Given the description of an element on the screen output the (x, y) to click on. 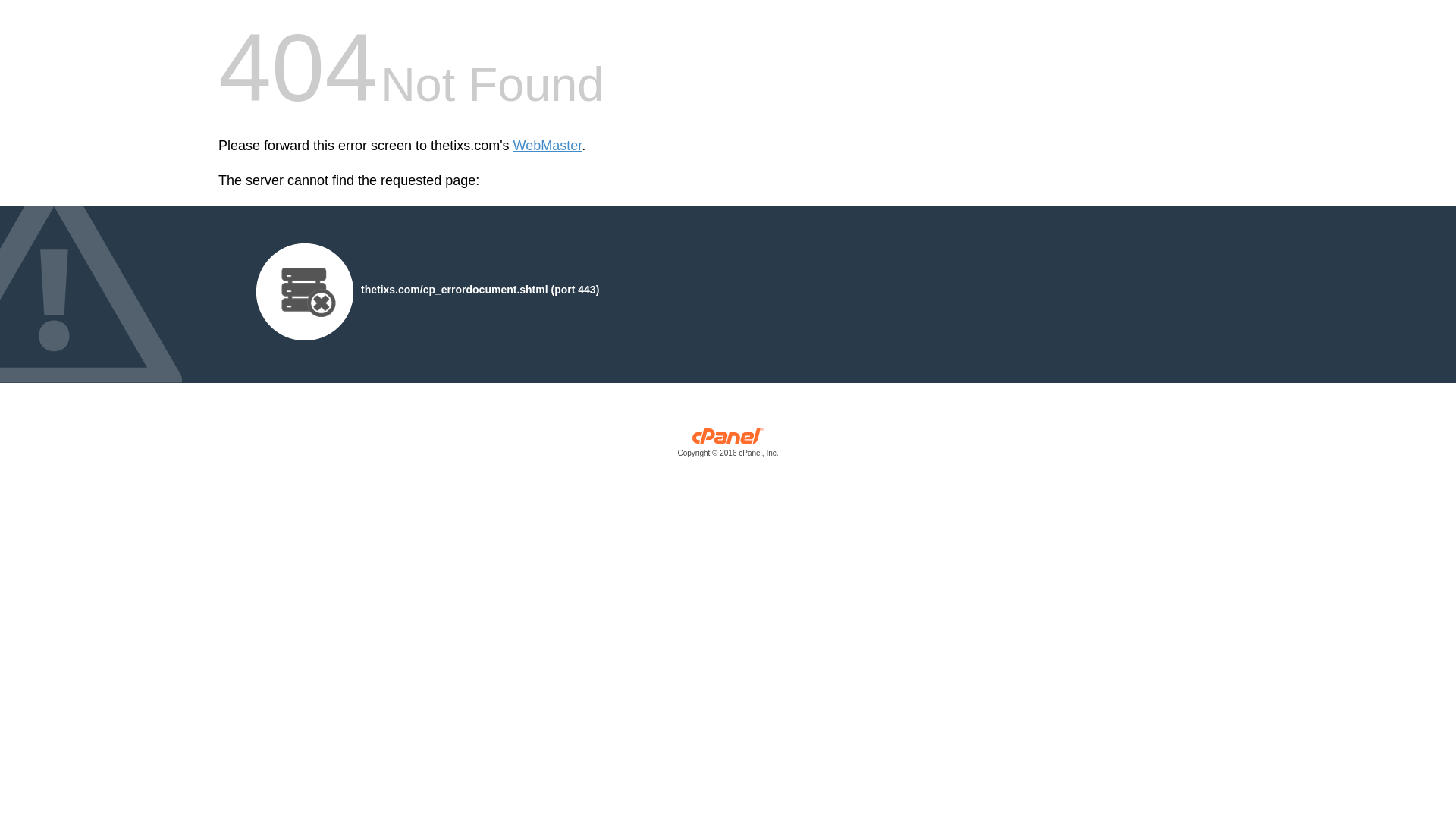
WebMaster (547, 145)
cPanel, Inc. (727, 446)
